Given the description of an element on the screen output the (x, y) to click on. 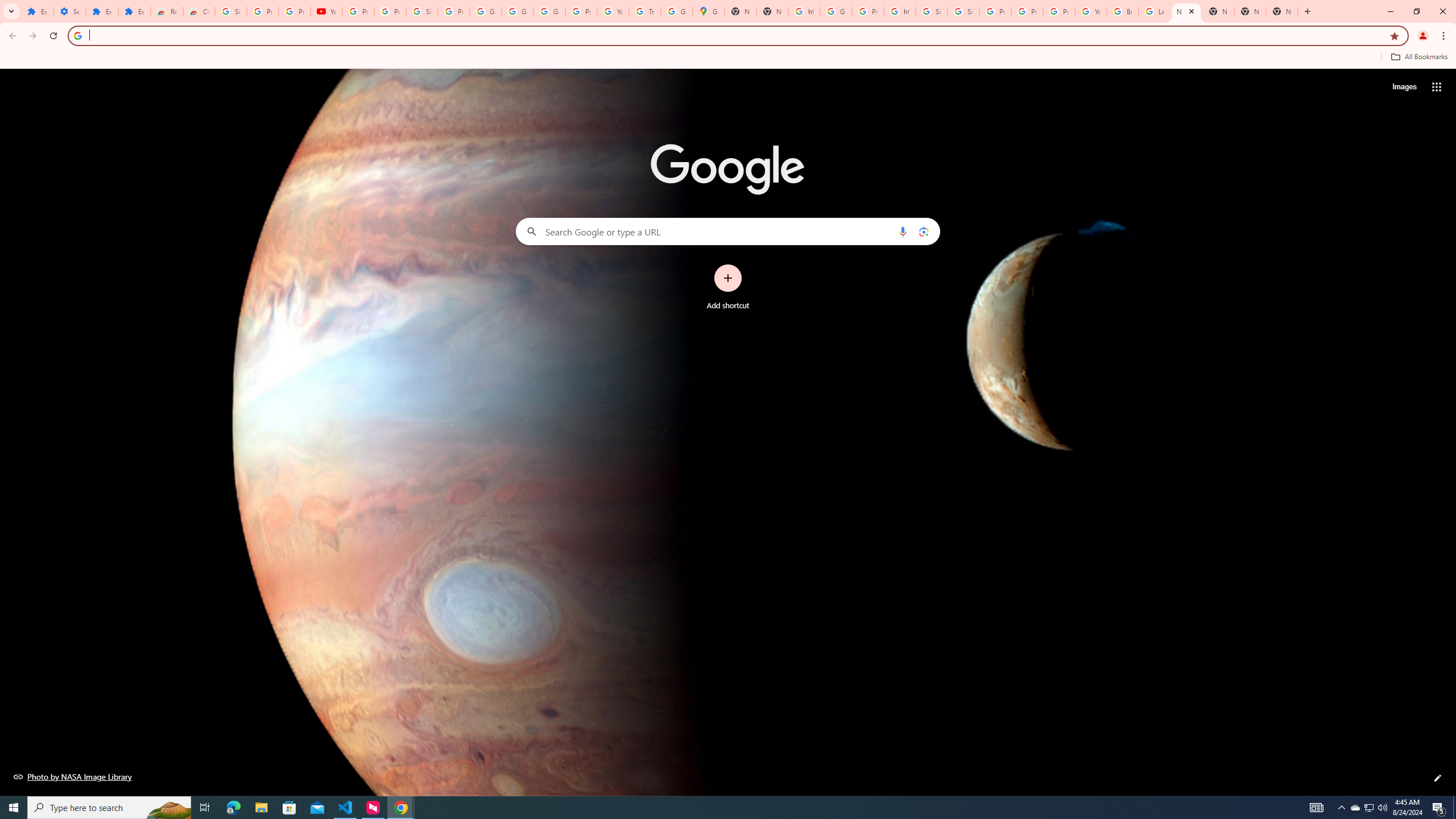
Add shortcut (727, 287)
YouTube (613, 11)
Sign in - Google Accounts (230, 11)
https://scholar.google.com/ (899, 11)
Customize this page (1437, 778)
Sign in - Google Accounts (421, 11)
